Given the description of an element on the screen output the (x, y) to click on. 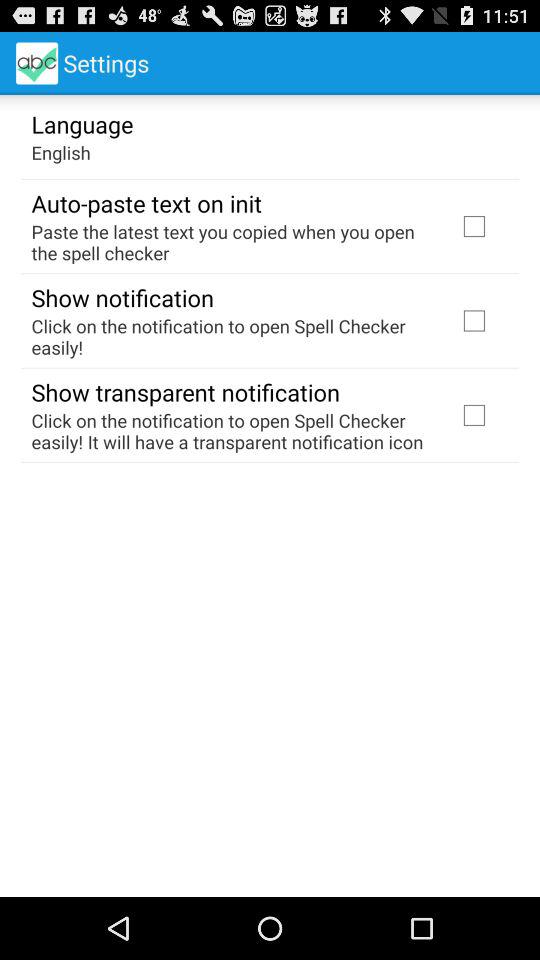
click icon above the show notification (231, 242)
